Given the description of an element on the screen output the (x, y) to click on. 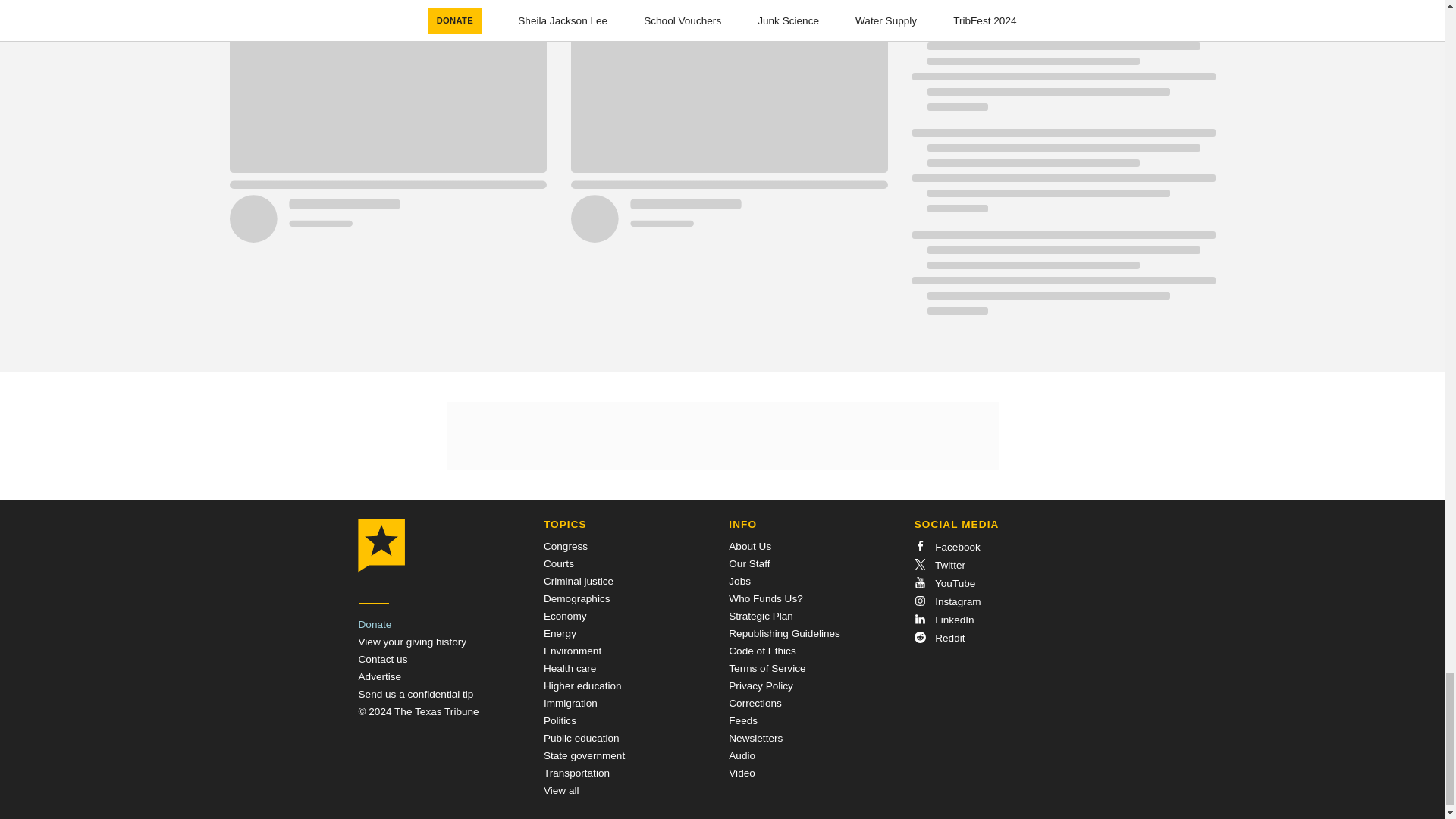
Loading indicator (1062, 11)
Advertise (379, 676)
Loading indicator (1062, 76)
Corrections (755, 703)
Donate (374, 624)
Facebook (946, 546)
Code of Ethics (761, 650)
Loading indicator (1062, 280)
Audio (742, 755)
About Us (750, 546)
Privacy Policy (761, 685)
Newsletters (756, 737)
Send a Tip (415, 694)
Contact us (382, 659)
Loading indicator (557, 5)
